Given the description of an element on the screen output the (x, y) to click on. 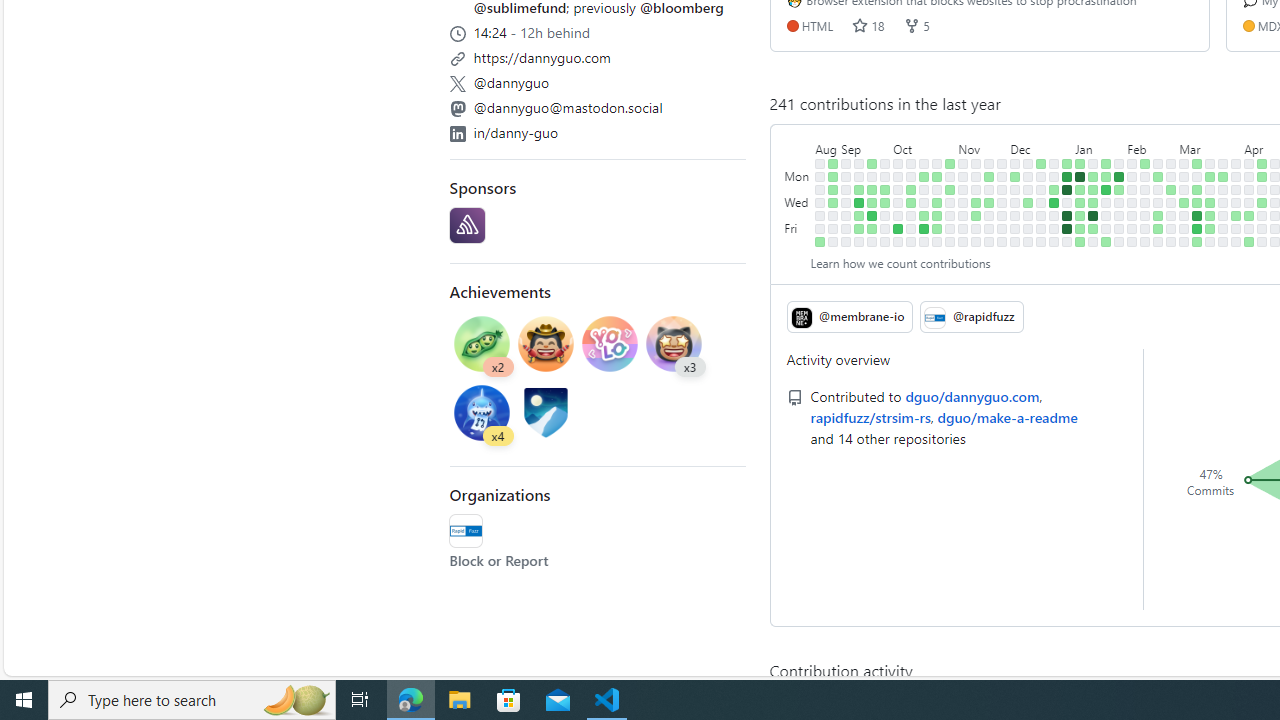
2 contributions on January 30th. (1119, 189)
No contributions on December 19th. (1041, 189)
No contributions on February 5th. (1131, 176)
No contributions on November 24th. (989, 228)
No contributions on September 8th. (846, 228)
dguo/dannyguo.com (971, 395)
@dannyguo@mastodon.social (568, 106)
No contributions on March 17th. (1210, 163)
X (457, 84)
https://dannyguo.com (597, 55)
No contributions on February 1st. (1119, 215)
No contributions on March 27th. (1223, 202)
No contributions on January 26th. (1106, 228)
No contributions on December 14th. (1028, 215)
7 contributions on January 1st. (1067, 176)
